Given the description of an element on the screen output the (x, y) to click on. 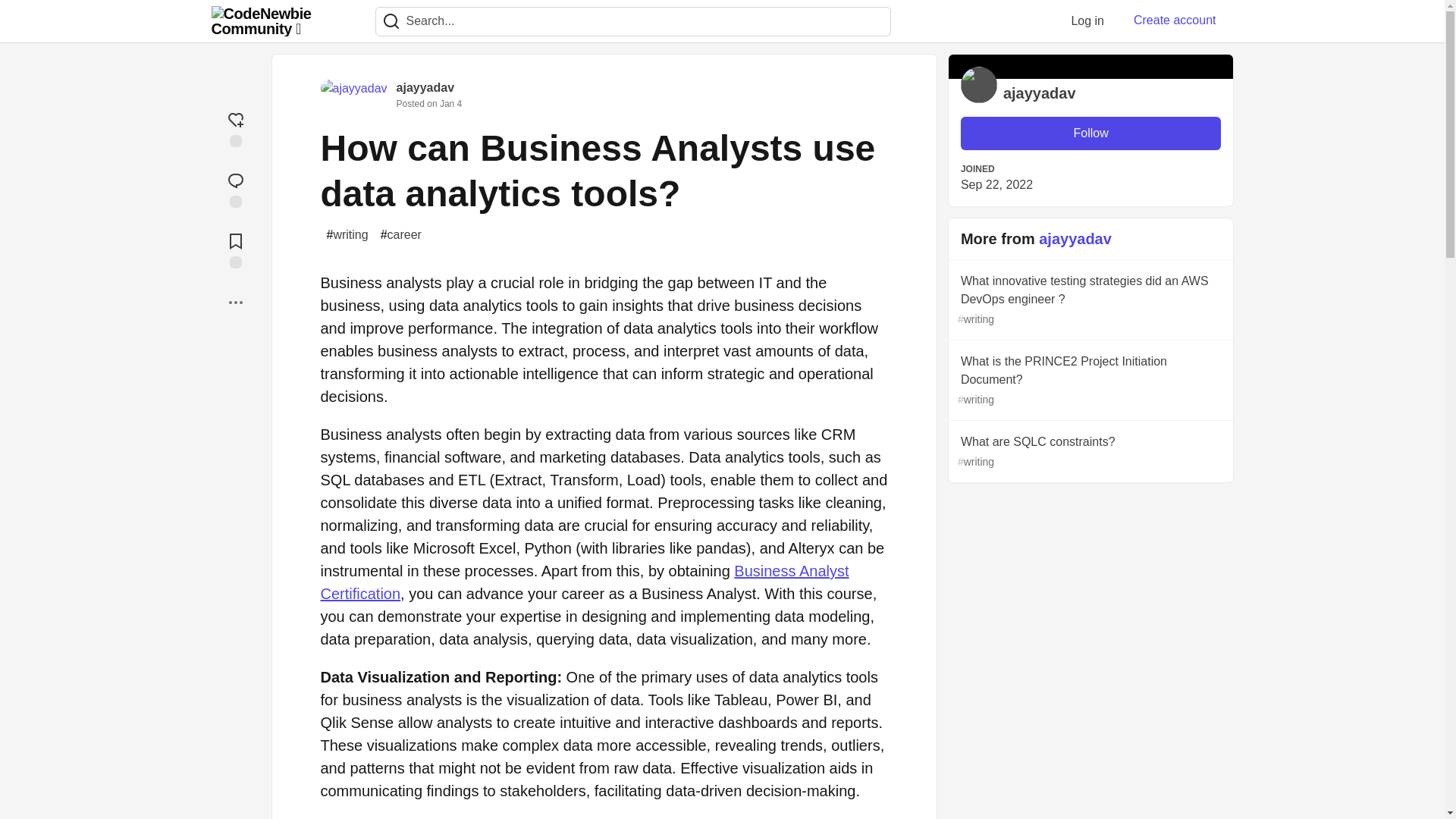
More... (234, 302)
Search (390, 21)
Business Analyst Certification (584, 581)
More... (234, 302)
Search (390, 21)
Log in (1087, 20)
Create account (1174, 20)
ajayyadav (425, 87)
